Given the description of an element on the screen output the (x, y) to click on. 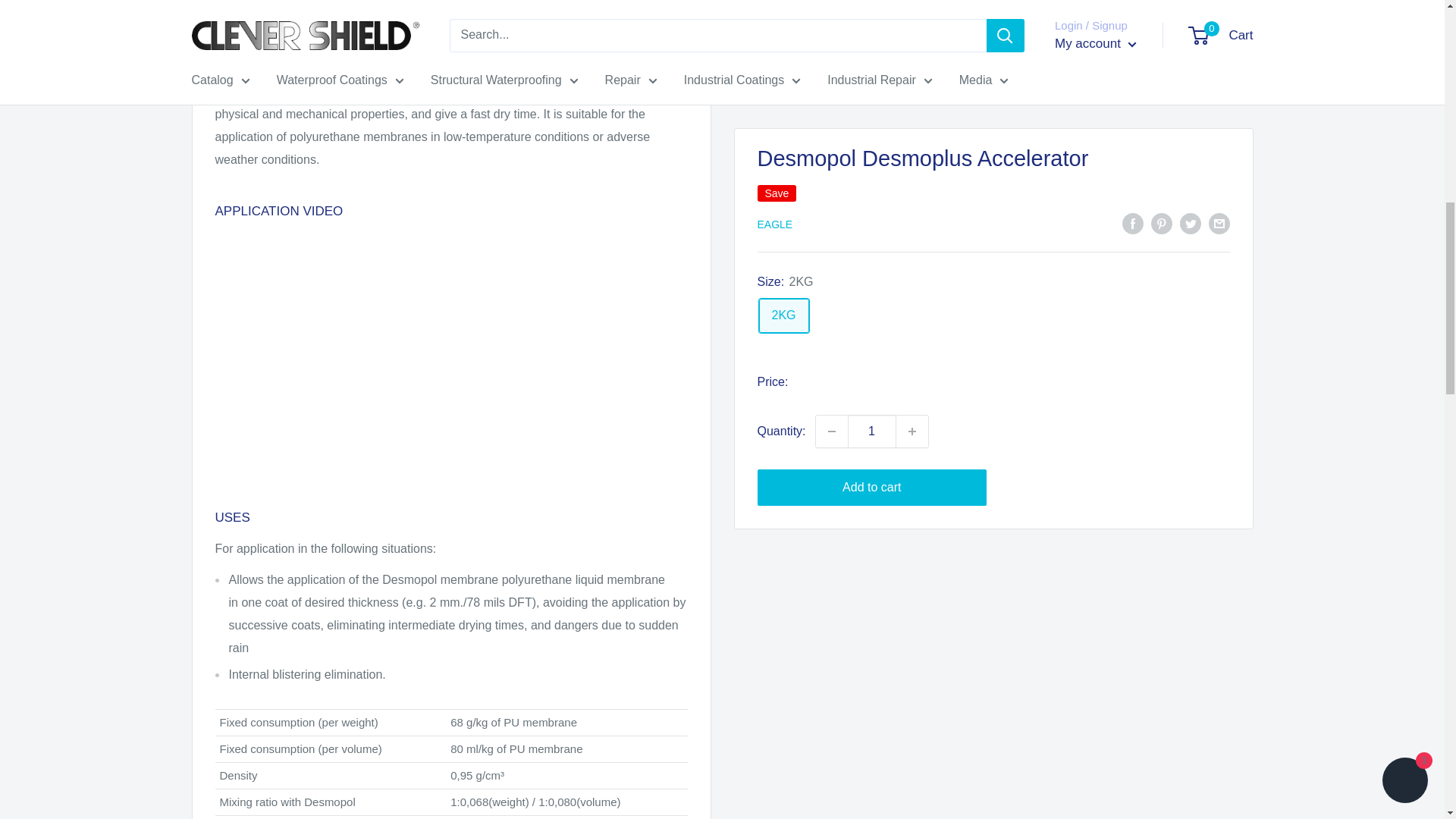
YouTube video player (427, 350)
